Given the description of an element on the screen output the (x, y) to click on. 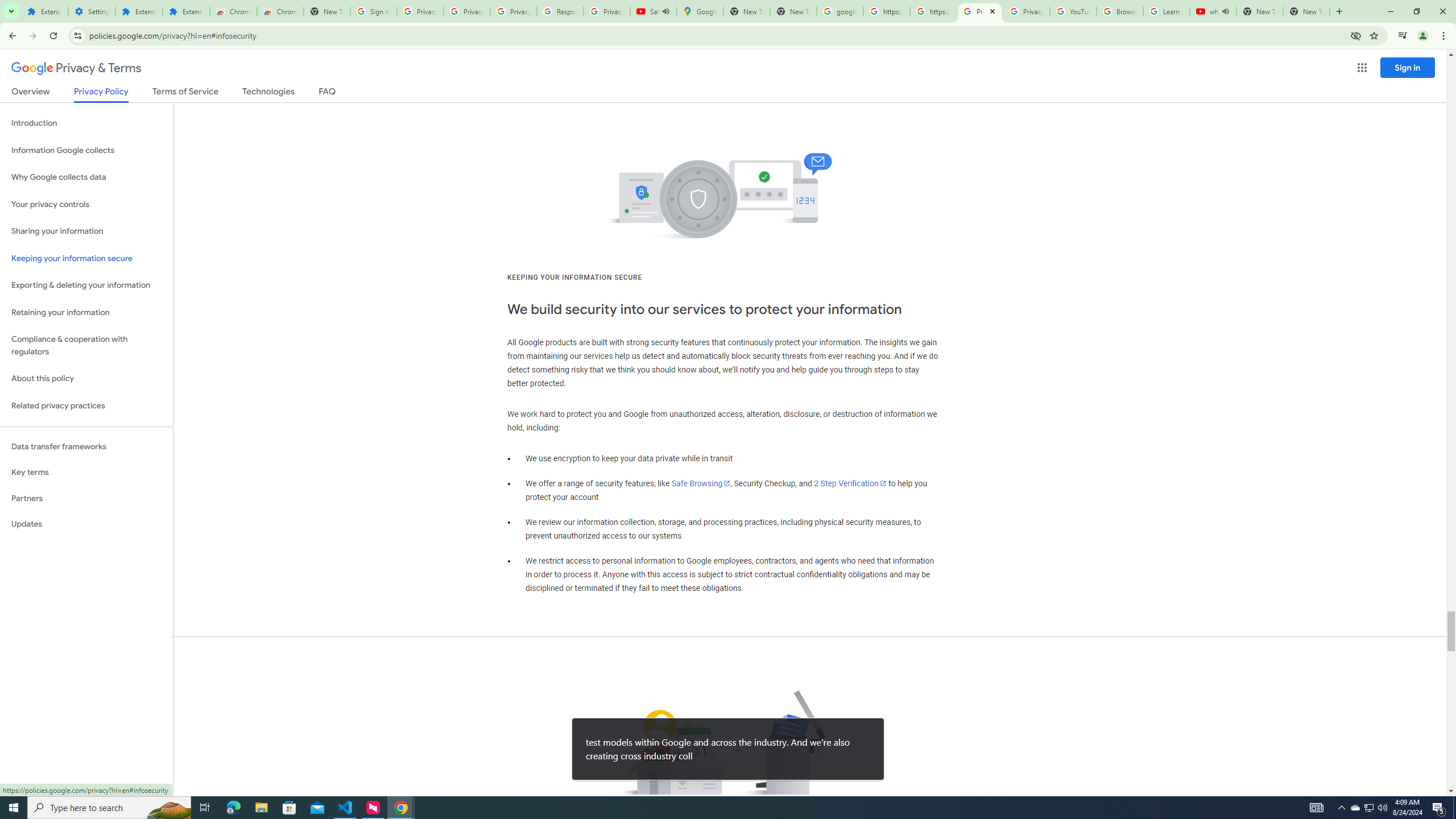
FAQ (327, 93)
Overview (30, 93)
Why Google collects data (86, 176)
Sign in (1407, 67)
Technologies (268, 93)
Reload (52, 35)
Privacy Policy (100, 94)
Extensions (138, 11)
Information Google collects (86, 150)
Search tabs (10, 11)
Extensions (44, 11)
